Given the description of an element on the screen output the (x, y) to click on. 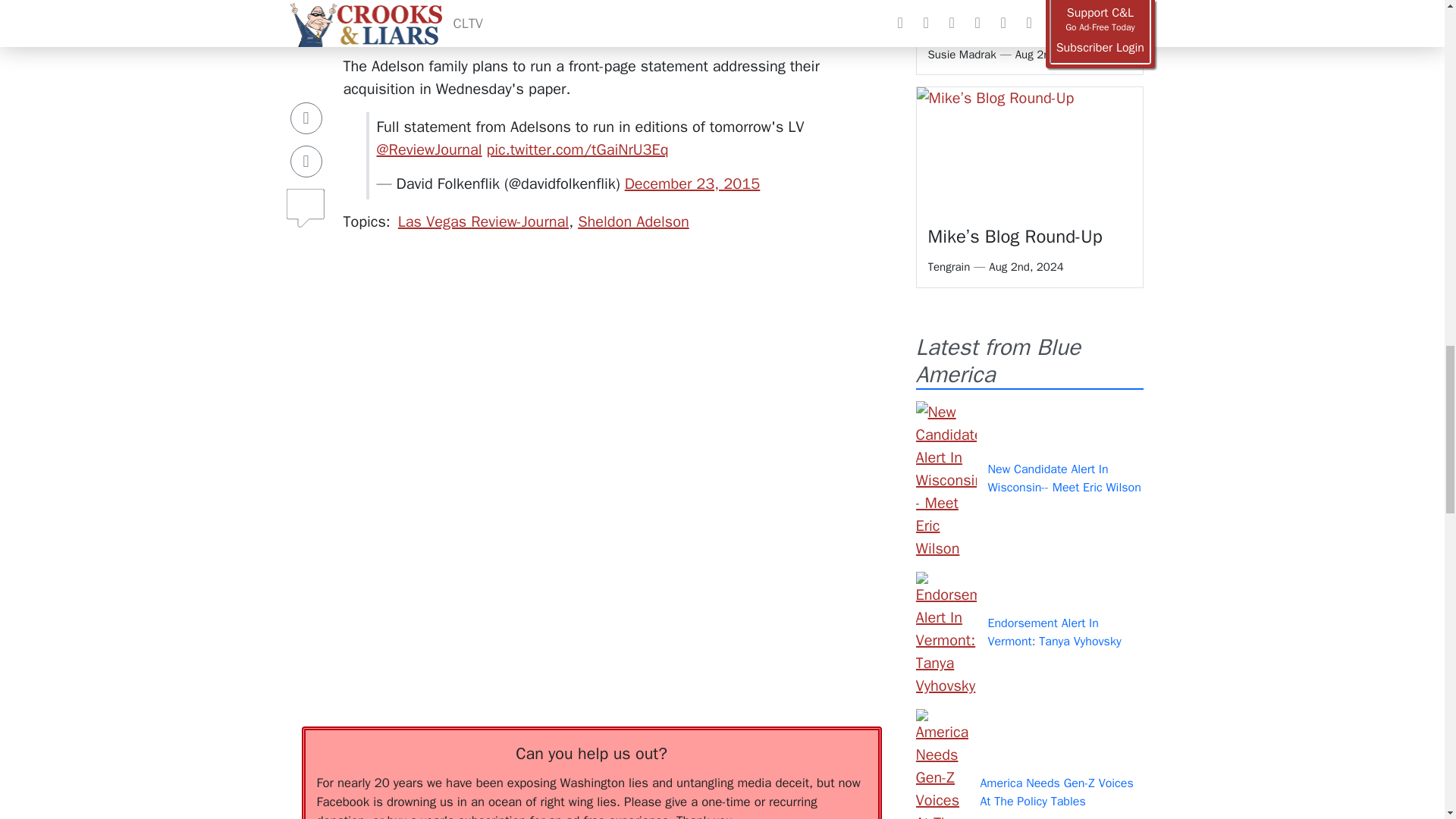
Las Vegas Review-Journal (483, 221)
Sheldon Adelson (633, 221)
December 23, 2015 (692, 183)
